Given the description of an element on the screen output the (x, y) to click on. 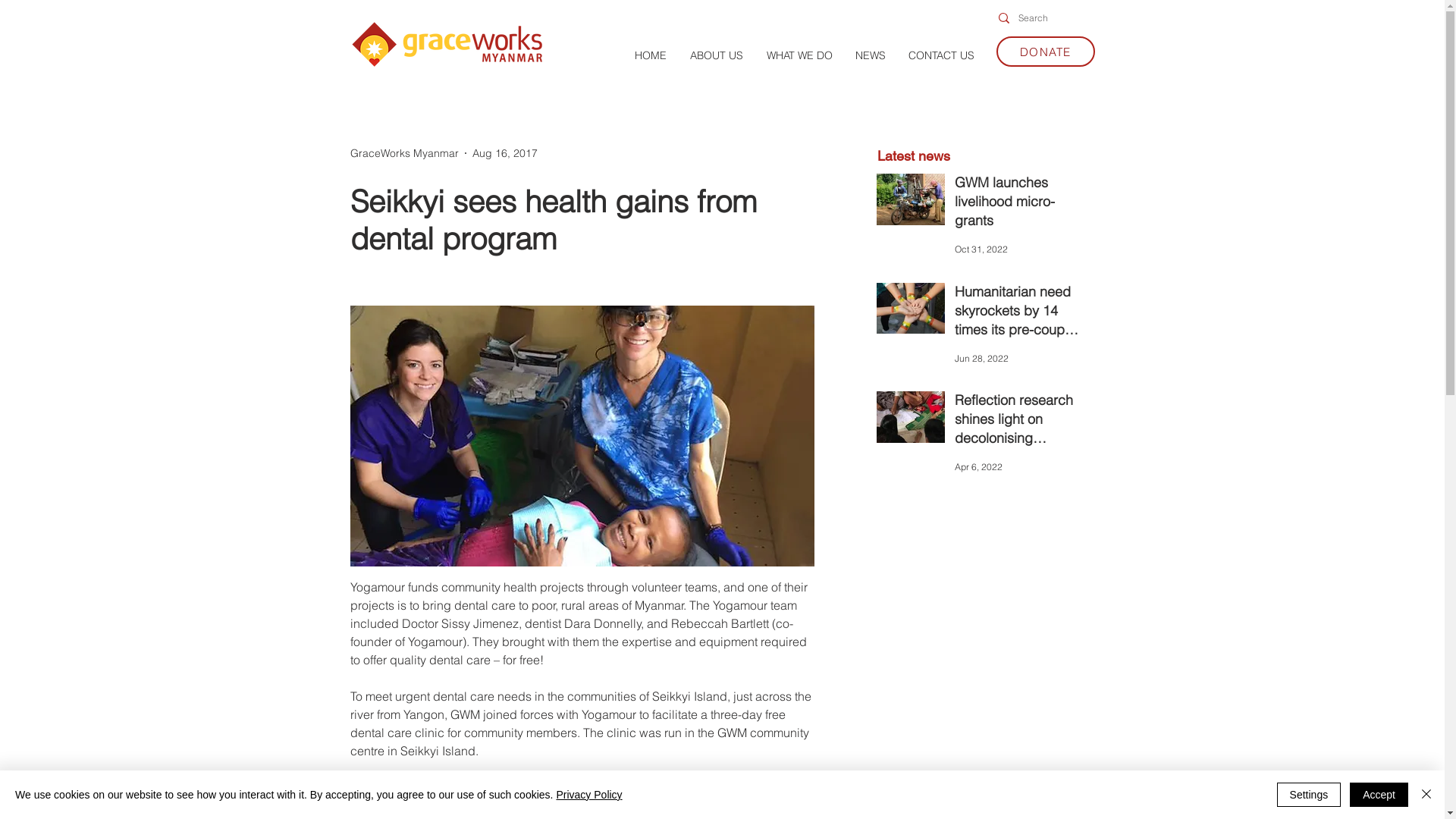
WHAT WE DO Element type: text (799, 54)
GWM launches livelihood micro-grants Element type: text (1018, 204)
Settings Element type: text (1309, 794)
Privacy Policy Element type: text (588, 794)
HOME Element type: text (650, 54)
Accept Element type: text (1378, 794)
DONATE Element type: text (1045, 51)
NEWS Element type: text (869, 54)
ABOUT US Element type: text (715, 54)
CONTACT US Element type: text (940, 54)
Reflection research shines light on decolonising evaluation Element type: text (1018, 422)
Humanitarian need skyrockets by 14 times its pre-coup levels Element type: text (1018, 313)
